Given the description of an element on the screen output the (x, y) to click on. 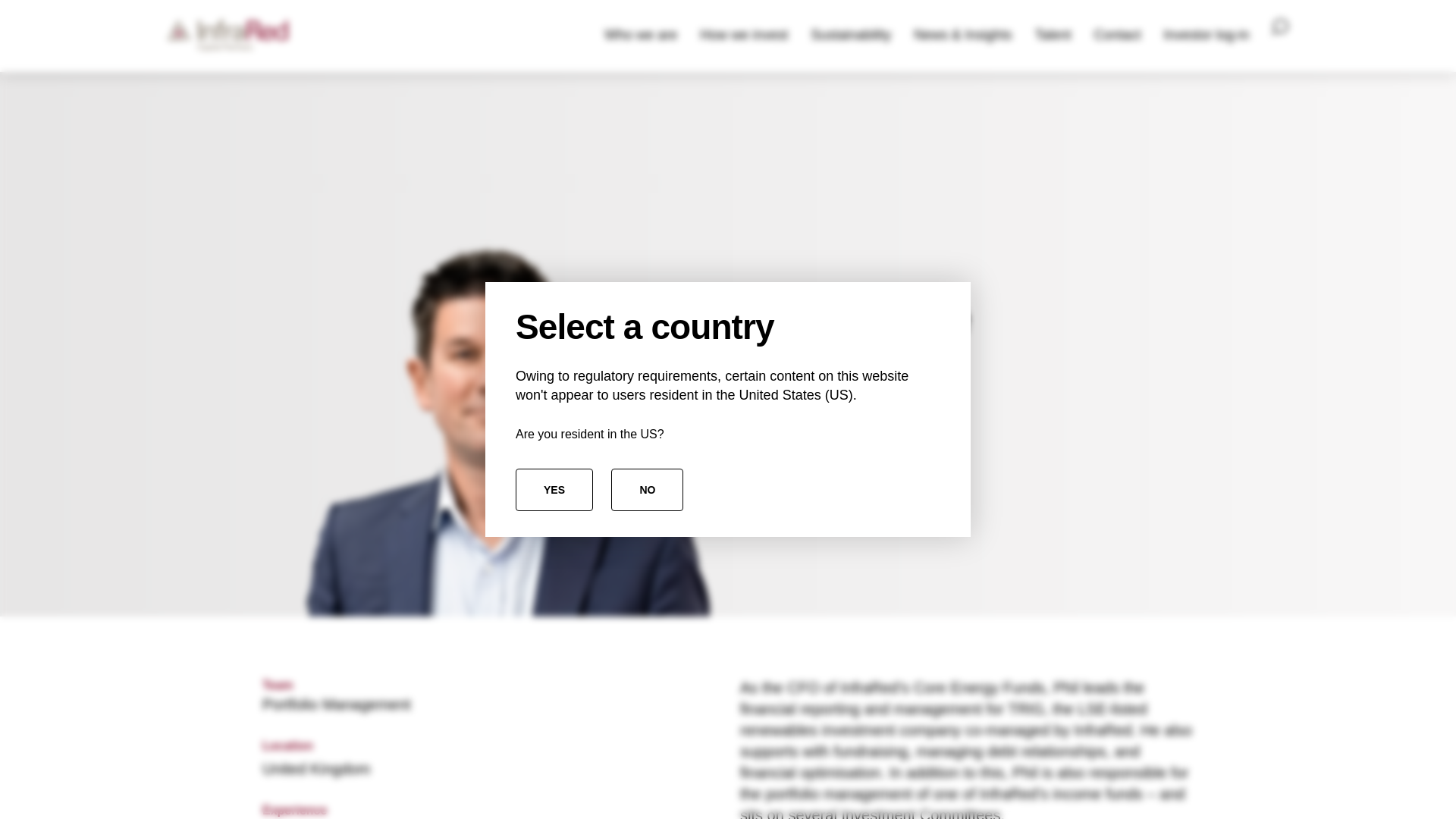
How we invest (743, 36)
Who we are (640, 36)
Sustainability (850, 36)
InfraRed (227, 35)
